Given the description of an element on the screen output the (x, y) to click on. 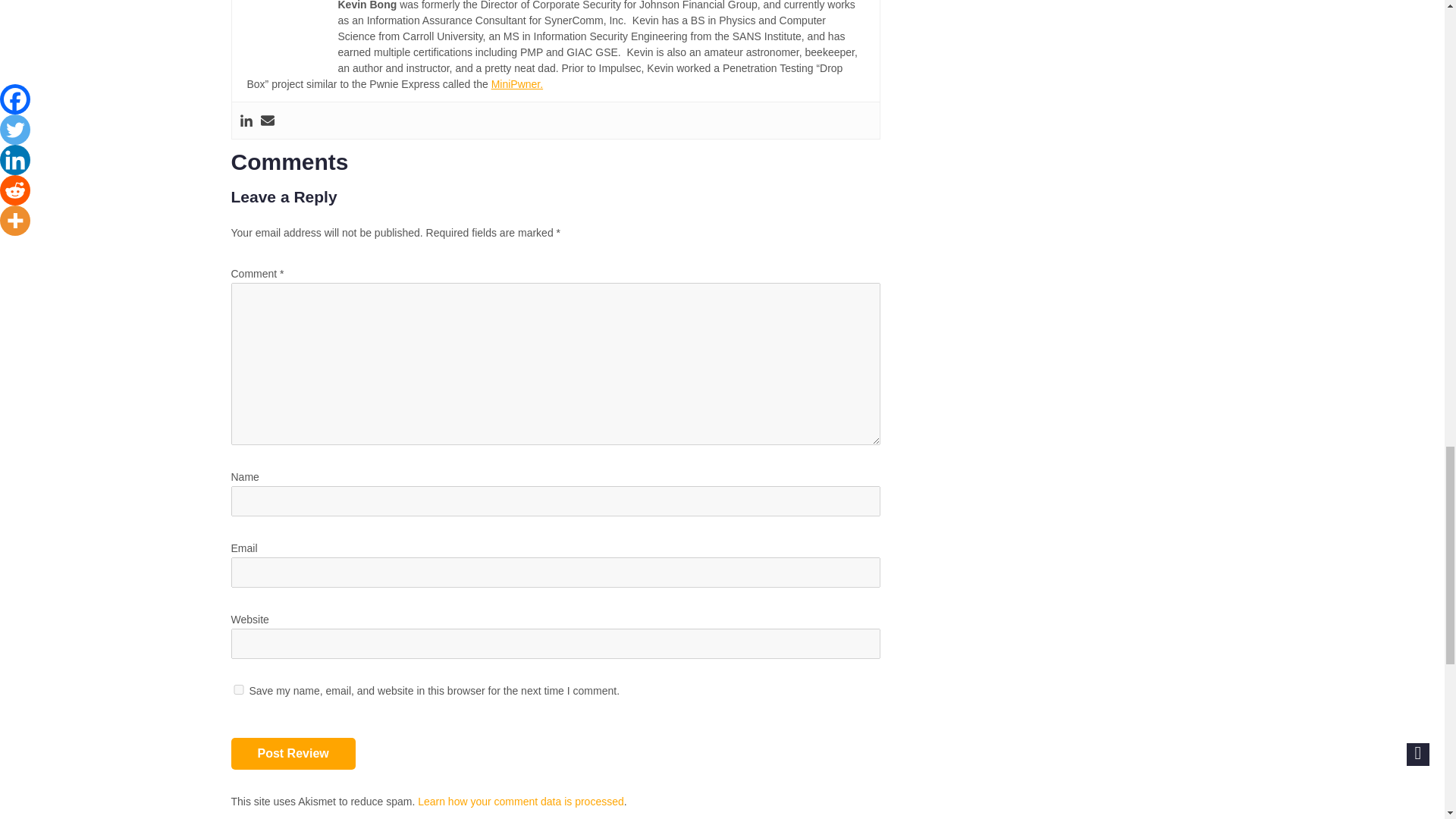
Learn how your comment data is processed (520, 801)
MiniPwner. (517, 83)
yes (238, 689)
Post Review (292, 753)
Post Review (292, 753)
